Given the description of an element on the screen output the (x, y) to click on. 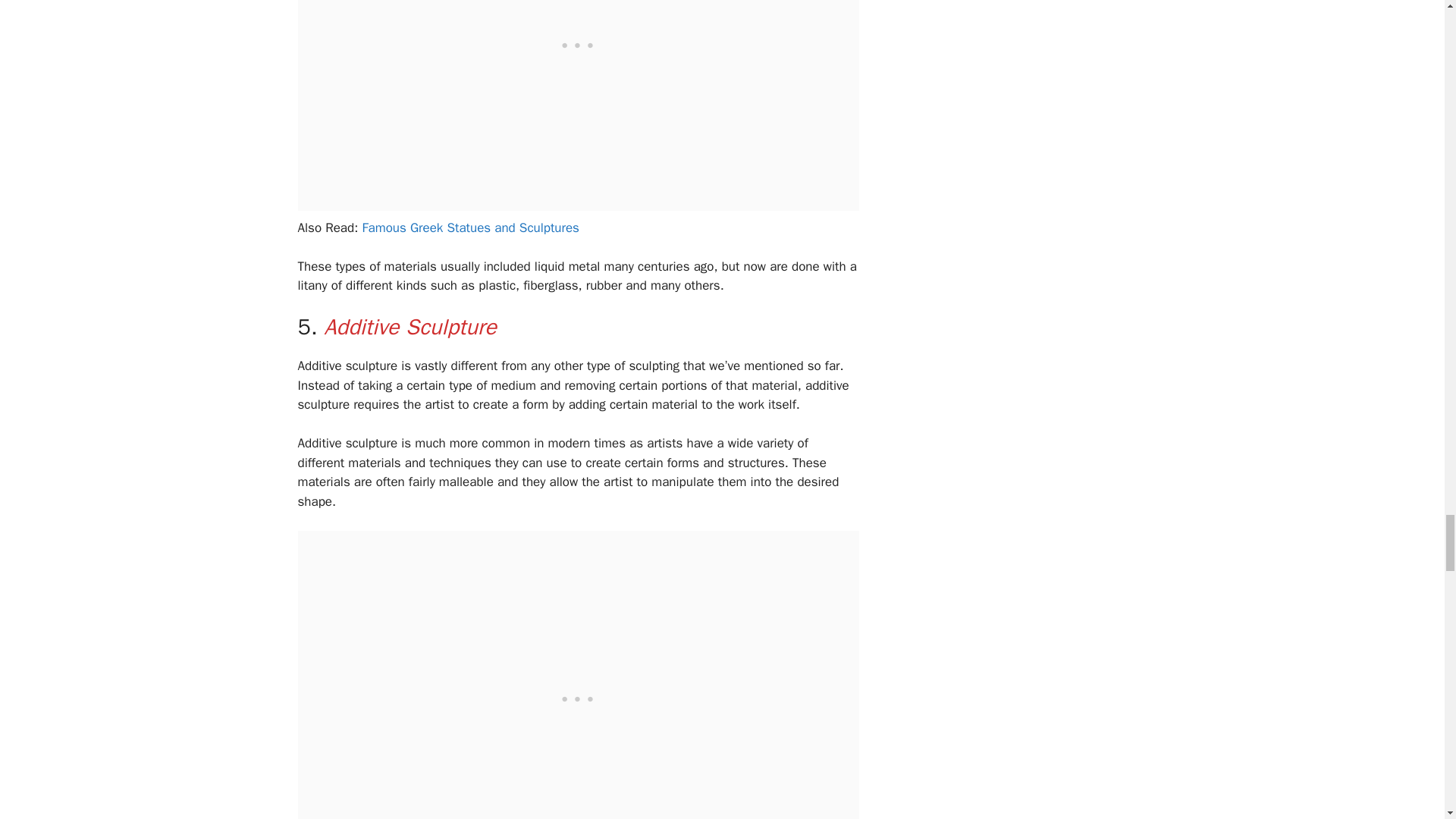
Famous Greek Statues and Sculptures (470, 227)
